Given the description of an element on the screen output the (x, y) to click on. 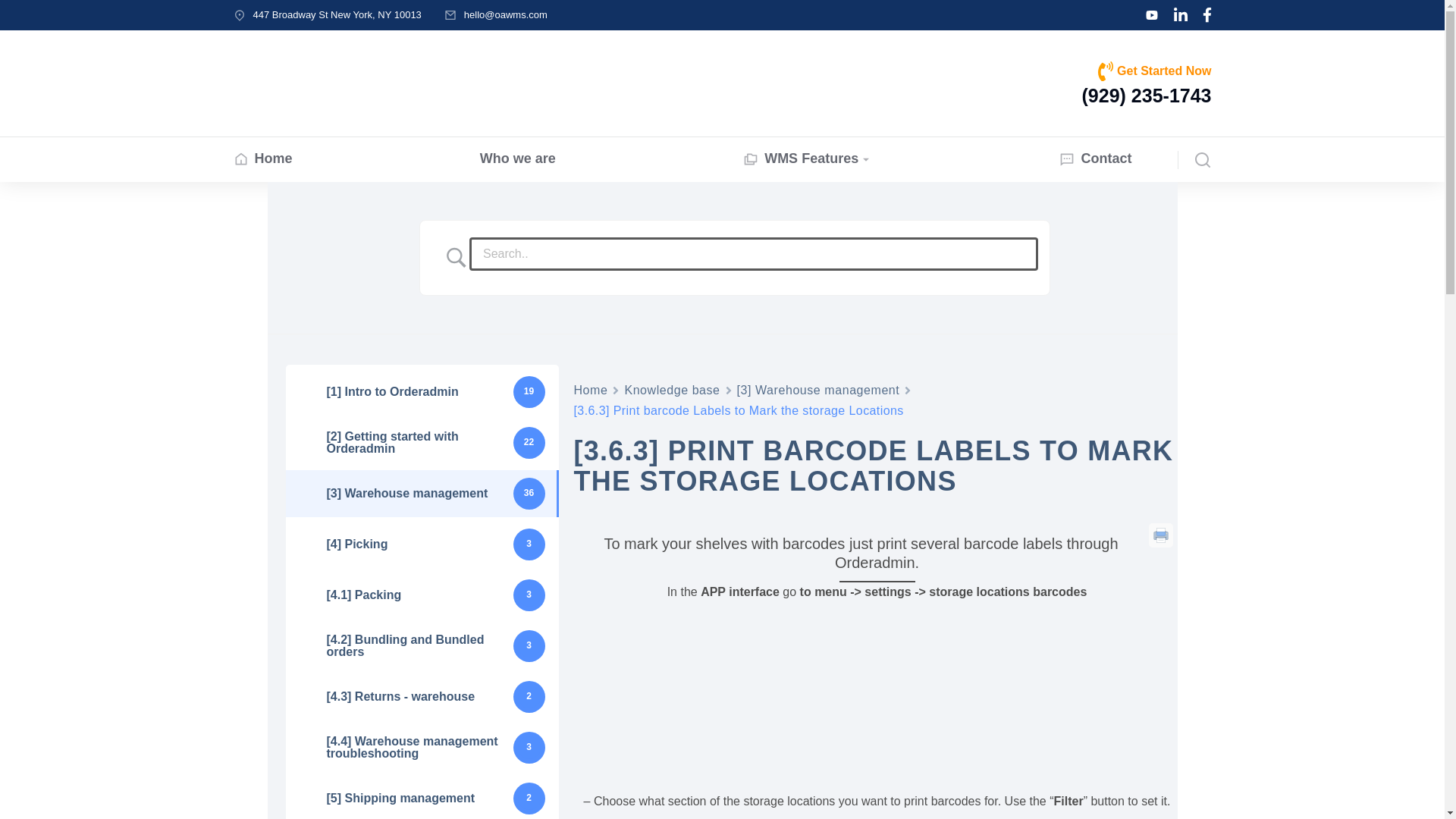
WMS Features (807, 158)
Home (262, 158)
Home (590, 390)
Knowledge base (671, 390)
Contact (1095, 158)
Get Started Now (1163, 70)
Who we are (518, 158)
447 Broadway St New York, NY 10013 (337, 14)
